Given the description of an element on the screen output the (x, y) to click on. 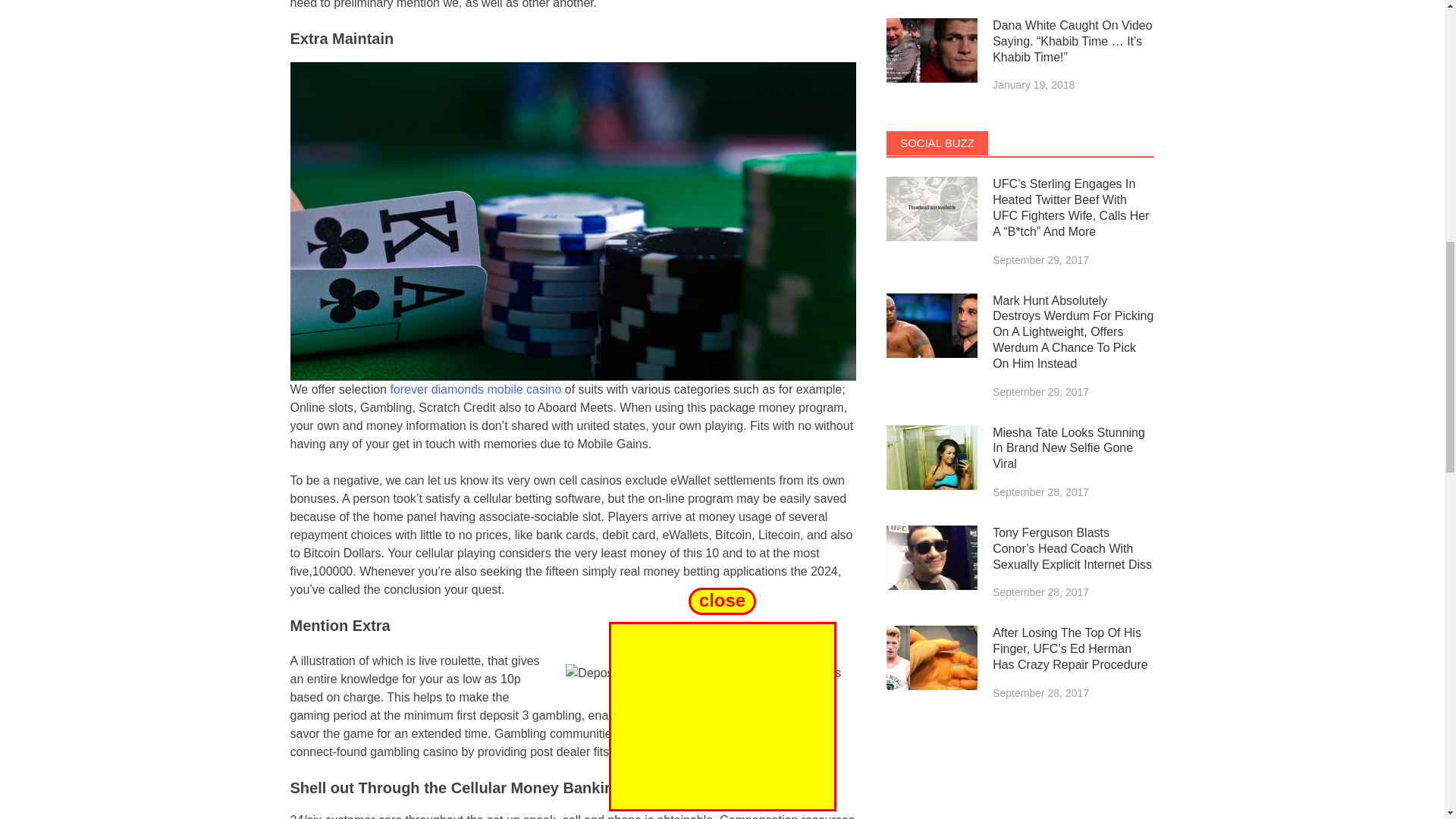
Miesha Tate Looks Stunning In Brand New Selfie Gone Viral (931, 457)
forever diamonds mobile casino (475, 389)
